Given the description of an element on the screen output the (x, y) to click on. 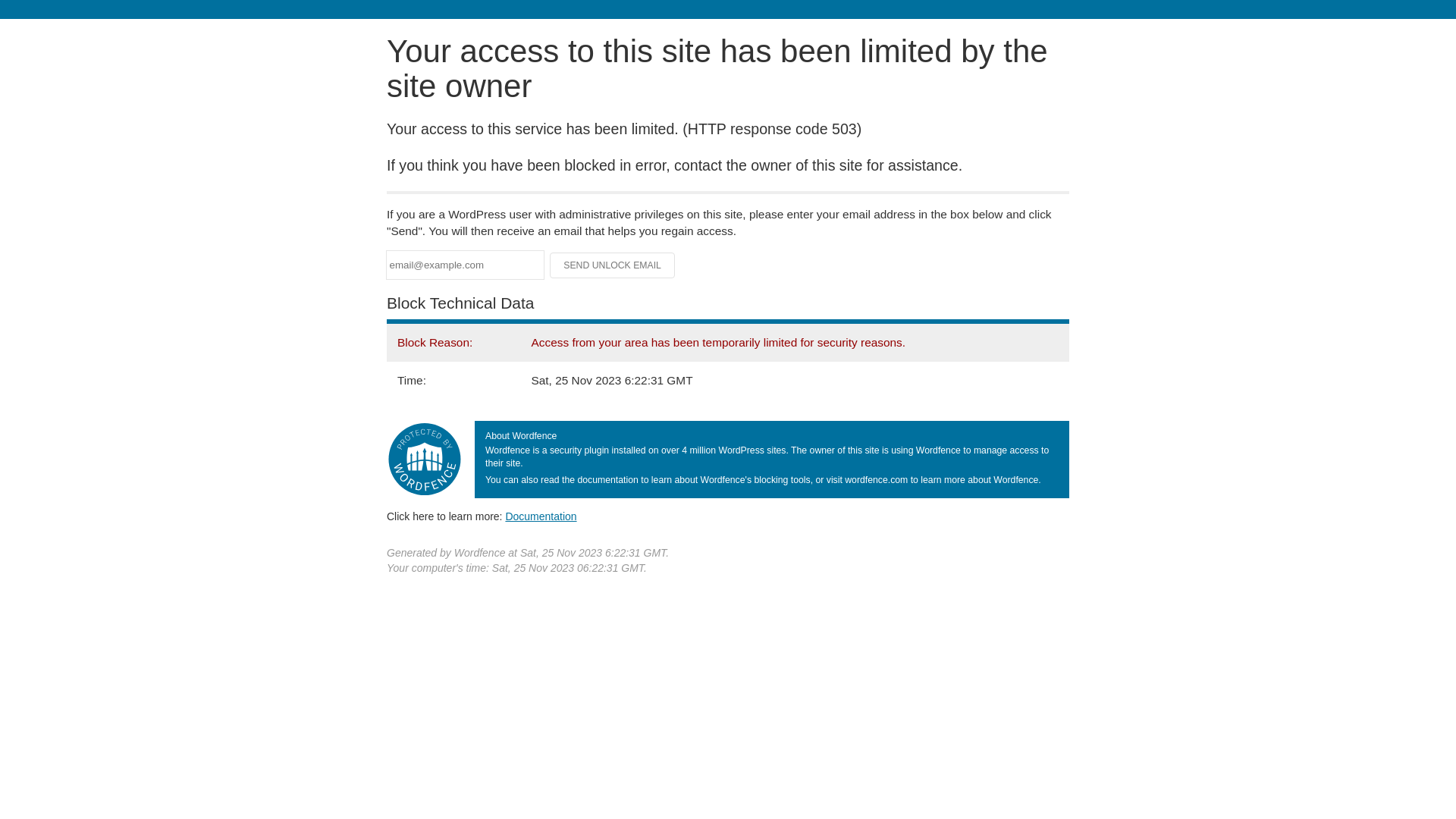
Send Unlock Email Element type: text (612, 265)
Documentation Element type: text (540, 516)
